Given the description of an element on the screen output the (x, y) to click on. 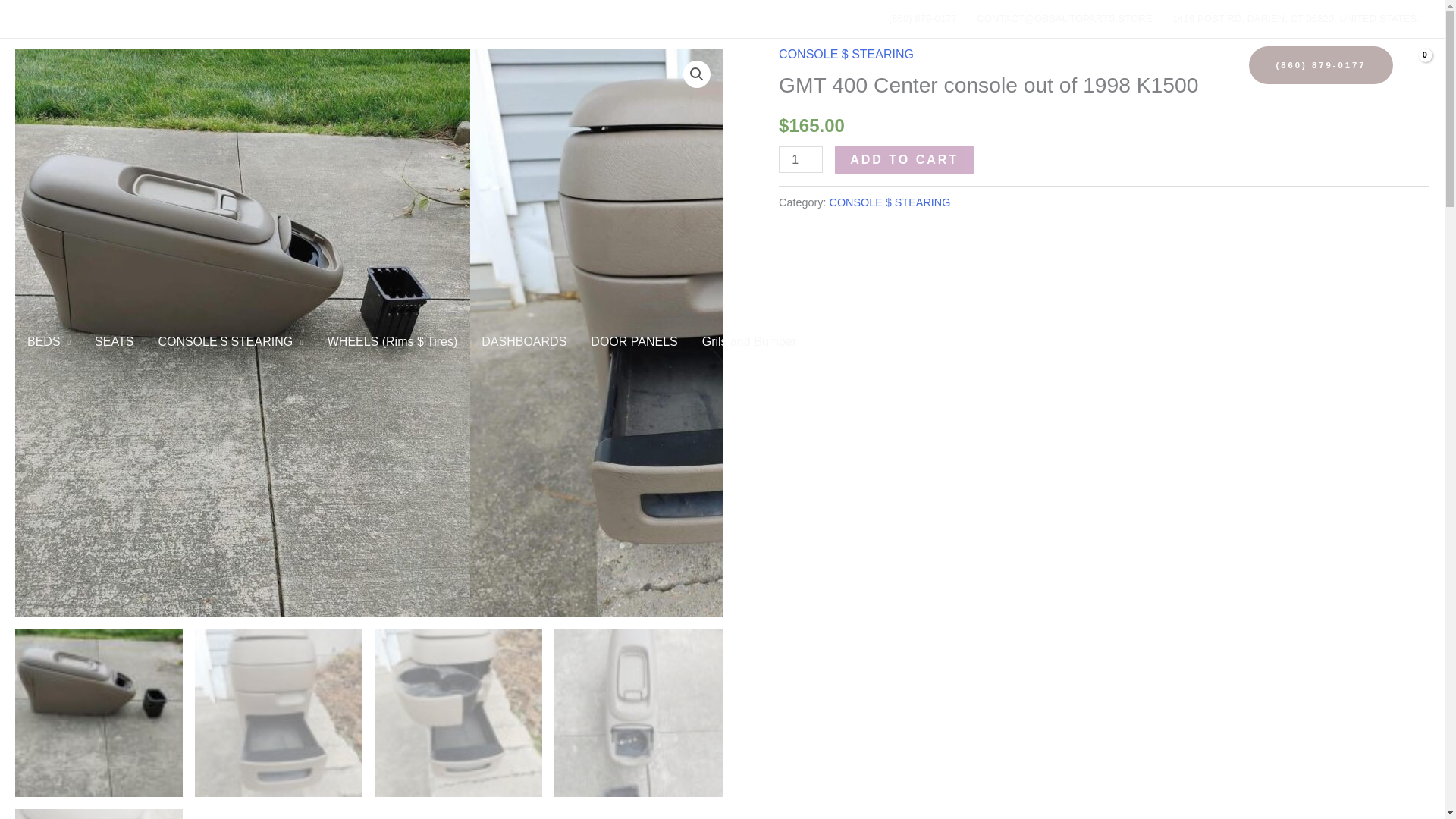
1416 POST RD, DARIEN, CT 06820, UNITED STATES. (1295, 18)
Grils and Bumper (749, 341)
DOOR PANELS (633, 341)
DASHBOARDS (523, 341)
BEDS (48, 341)
SEATS (113, 341)
1 (800, 159)
ADD TO CART (904, 159)
